Given the description of an element on the screen output the (x, y) to click on. 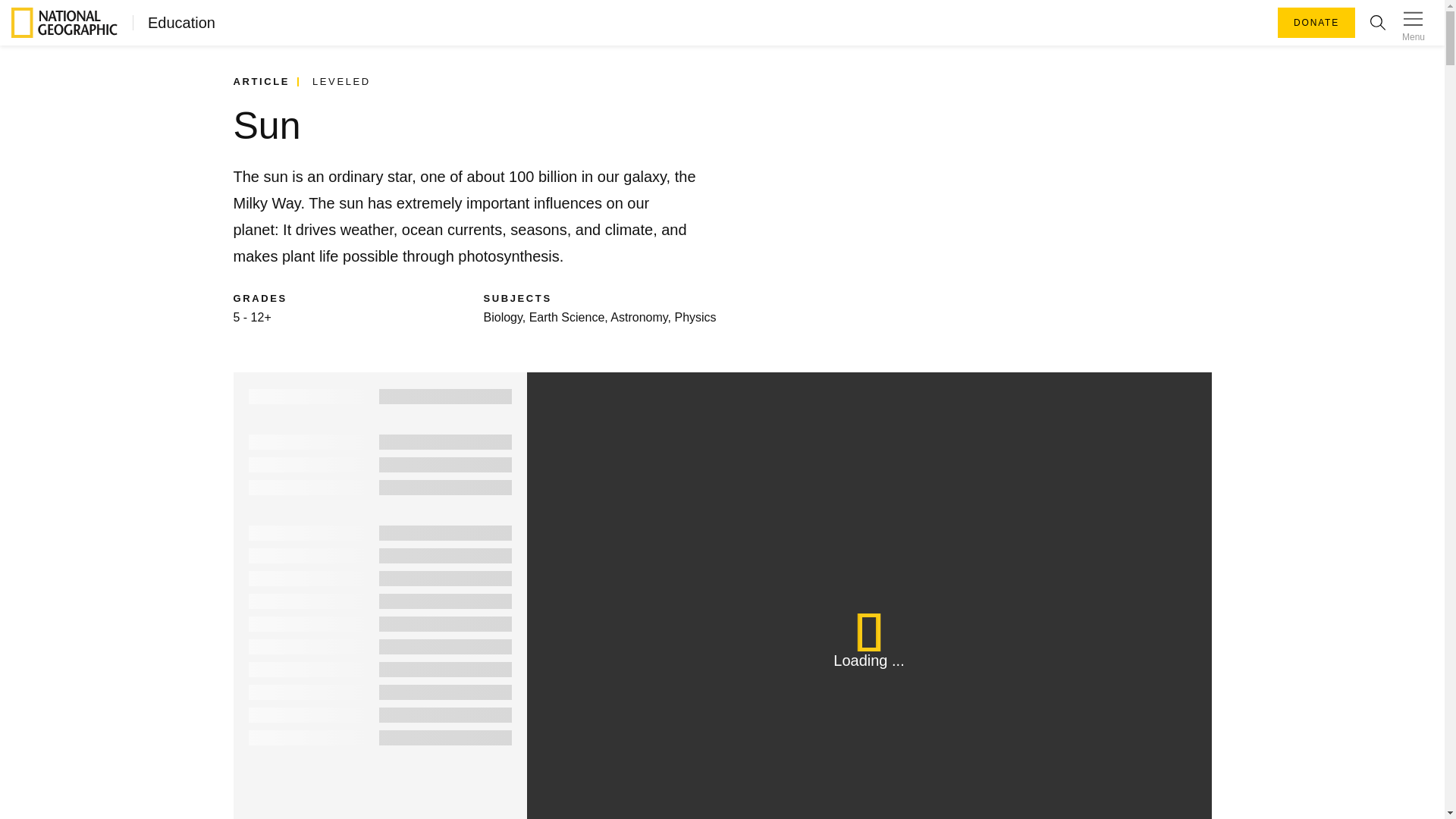
Education (173, 22)
Menu (1412, 22)
DONATE (1316, 22)
